Given the description of an element on the screen output the (x, y) to click on. 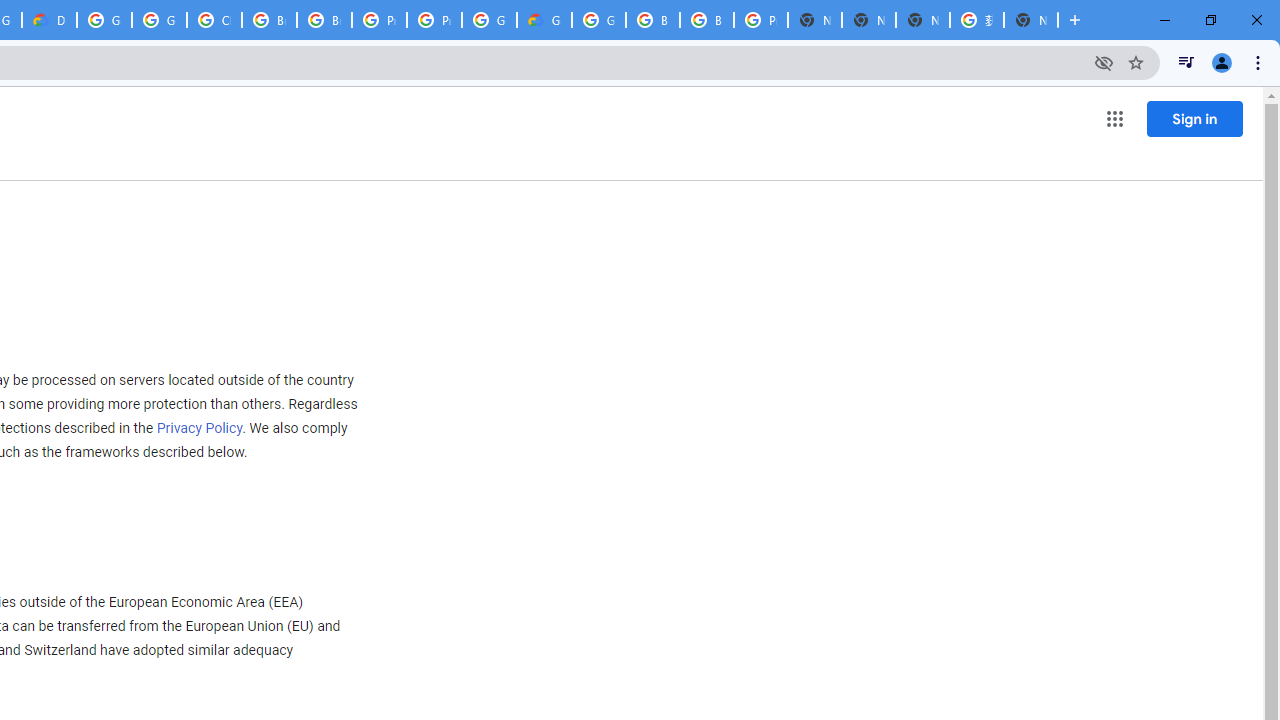
Google Cloud Platform (489, 20)
New Tab (815, 20)
Browse Chrome as a guest - Computer - Google Chrome Help (268, 20)
Google Cloud Platform (598, 20)
Browse Chrome as a guest - Computer - Google Chrome Help (652, 20)
